Given the description of an element on the screen output the (x, y) to click on. 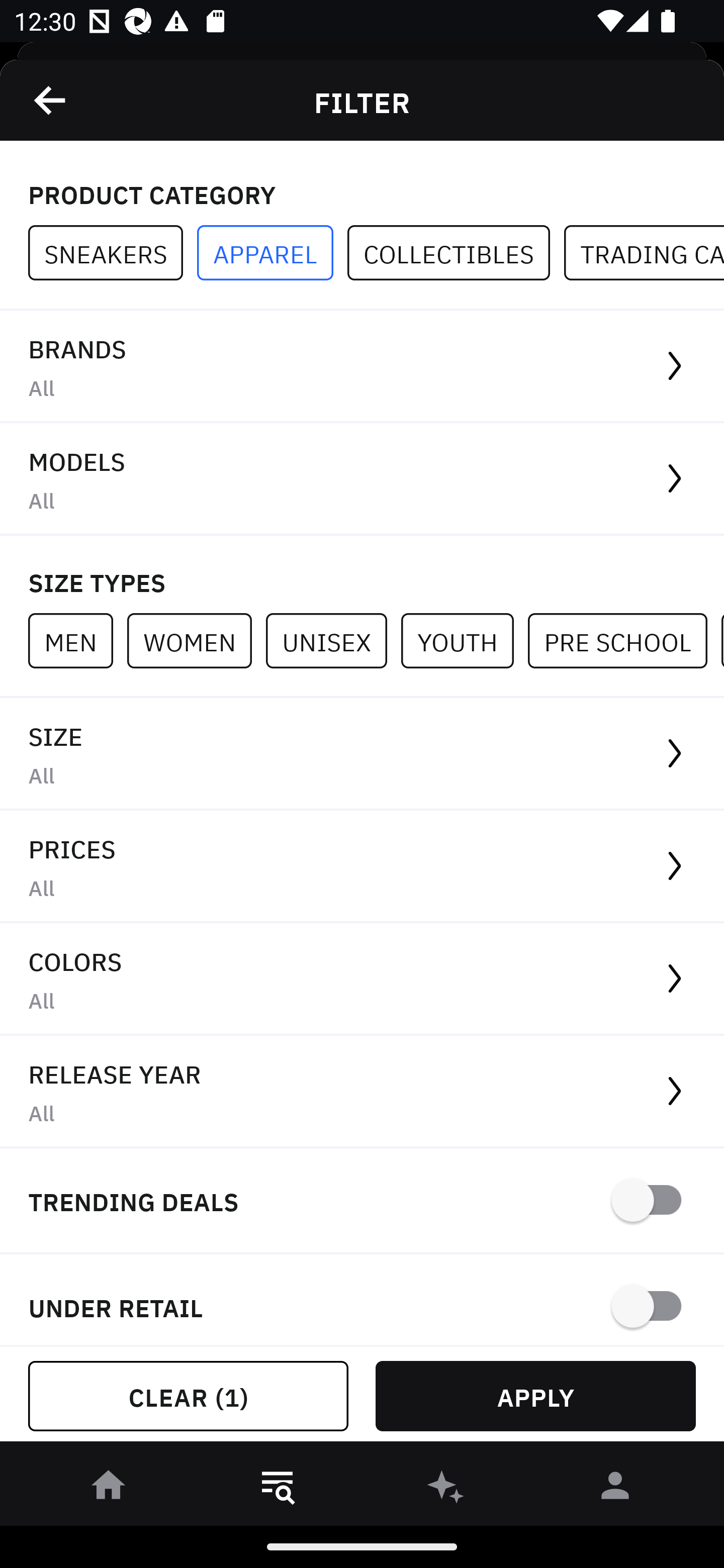
 (50, 100)
SNEAKERS (112, 252)
APPAREL (271, 252)
COLLECTIBLES (455, 252)
TRADING CARDS (643, 252)
BRANDS All (362, 366)
MODELS All (362, 479)
MEN (77, 640)
WOMEN (196, 640)
UNISEX (333, 640)
YOUTH (464, 640)
PRE SCHOOL (624, 640)
SIZE All (362, 753)
PRICES All (362, 866)
COLORS All (362, 979)
RELEASE YEAR All (362, 1091)
TRENDING DEALS (362, 1200)
UNDER RETAIL (362, 1299)
CLEAR (1) (188, 1396)
APPLY (535, 1396)
󰋜 (108, 1488)
󱎸 (277, 1488)
󰫢 (446, 1488)
󰀄 (615, 1488)
